Given the description of an element on the screen output the (x, y) to click on. 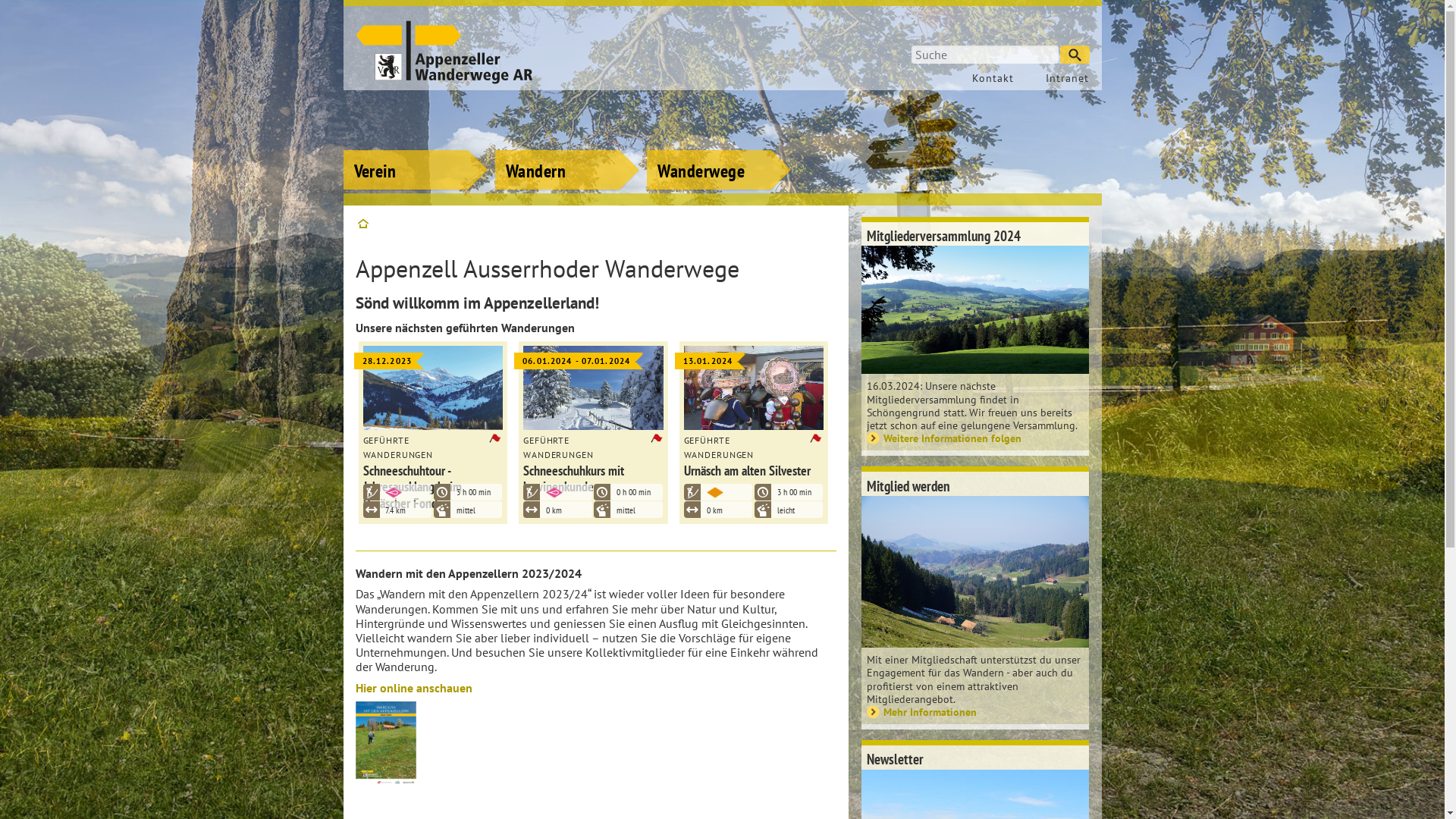
Hier online anschauen Element type: text (412, 687)
Newsletter Element type: text (974, 757)
Mehr Informationen Element type: text (974, 711)
Intranet Element type: text (1058, 77)
Mitgliederversammlung 2024 Element type: text (974, 234)
Weitere Informationen folgen Element type: text (974, 437)
Verein Element type: text (414, 147)
Wandern Element type: text (567, 147)
Suchen Element type: text (1074, 54)
Kontakt Element type: text (988, 77)
Mitglied werden Element type: text (974, 483)
Wanderwege Element type: text (718, 147)
